Given the description of an element on the screen output the (x, y) to click on. 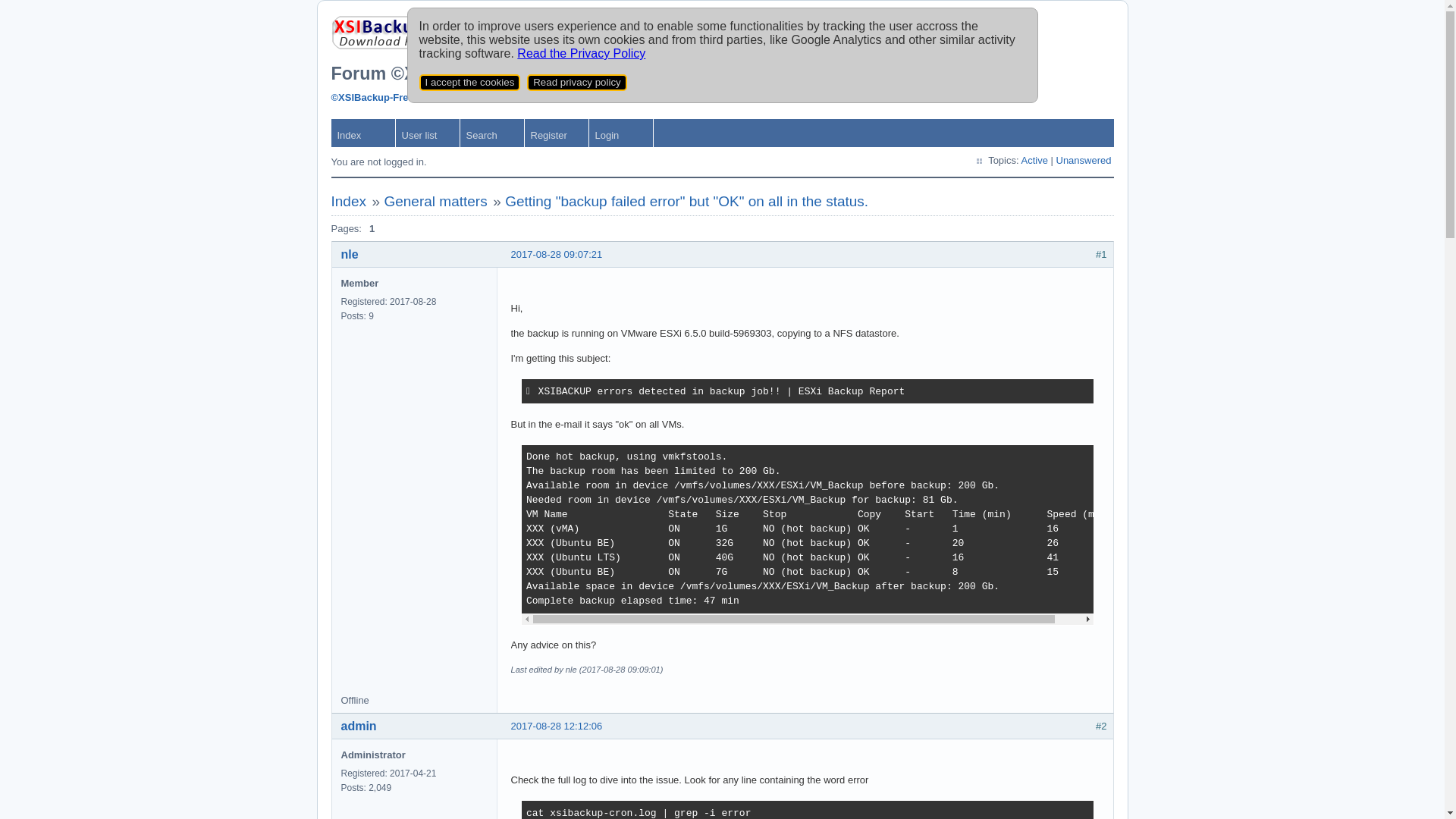
Active Element type: text (1033, 160)
Read privacy policy Element type: text (577, 82)
User list Element type: text (427, 133)
admin Element type: text (358, 725)
Register Element type: text (556, 133)
Unanswered Element type: text (1082, 160)
2017-08-28 12:12:06 Element type: text (556, 725)
General matters Element type: text (434, 201)
Index Element type: text (362, 133)
Read the Privacy Policy Element type: text (581, 53)
I accept the cookies Element type: text (469, 82)
Index Element type: text (347, 201)
nle Element type: text (349, 253)
Search Element type: text (491, 133)
Login Element type: text (620, 133)
Getting "backup failed error" but "OK" on all in the status. Element type: text (686, 201)
2017-08-28 09:07:21 Element type: text (556, 254)
